Given the description of an element on the screen output the (x, y) to click on. 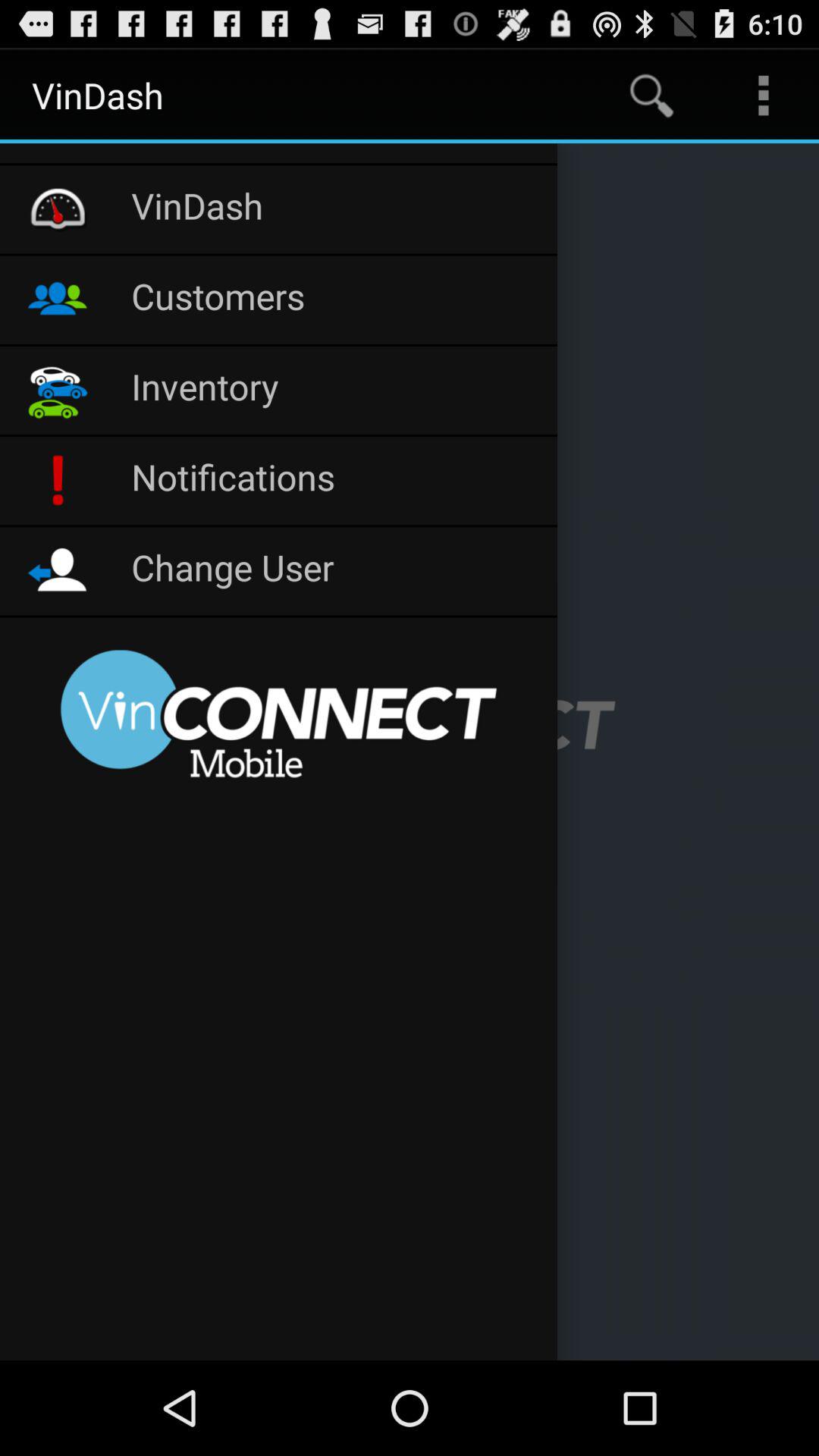
turn on app below the inventory app (336, 480)
